Given the description of an element on the screen output the (x, y) to click on. 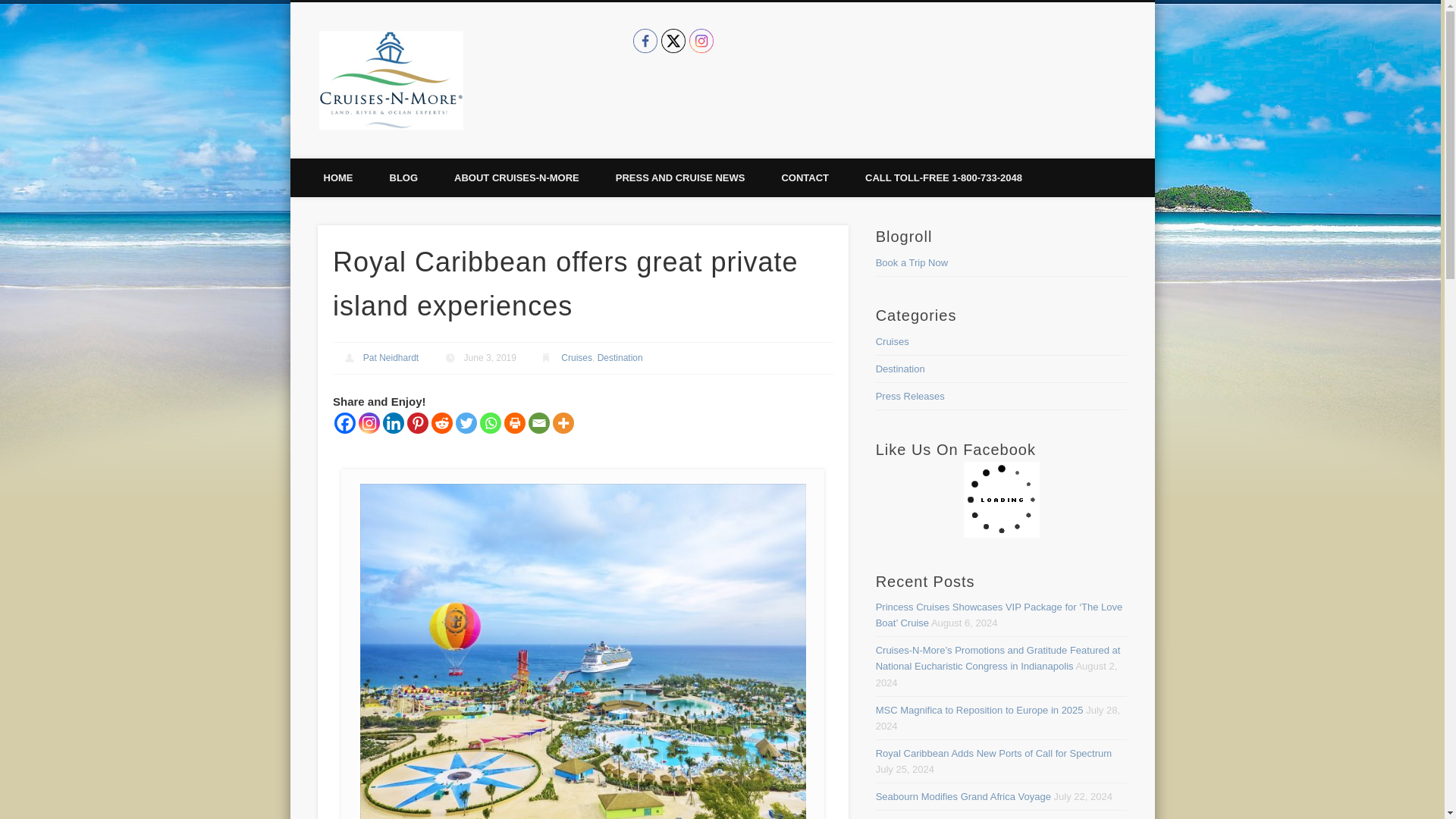
BLOG (403, 177)
Email (539, 423)
Instagram (369, 423)
Facebook (645, 40)
Twitter (673, 40)
Posts by Pat Neidhardt (390, 357)
More (563, 423)
ABOUT CRUISES-N-MORE (515, 177)
Whatsapp (490, 423)
Destination (619, 357)
